Given the description of an element on the screen output the (x, y) to click on. 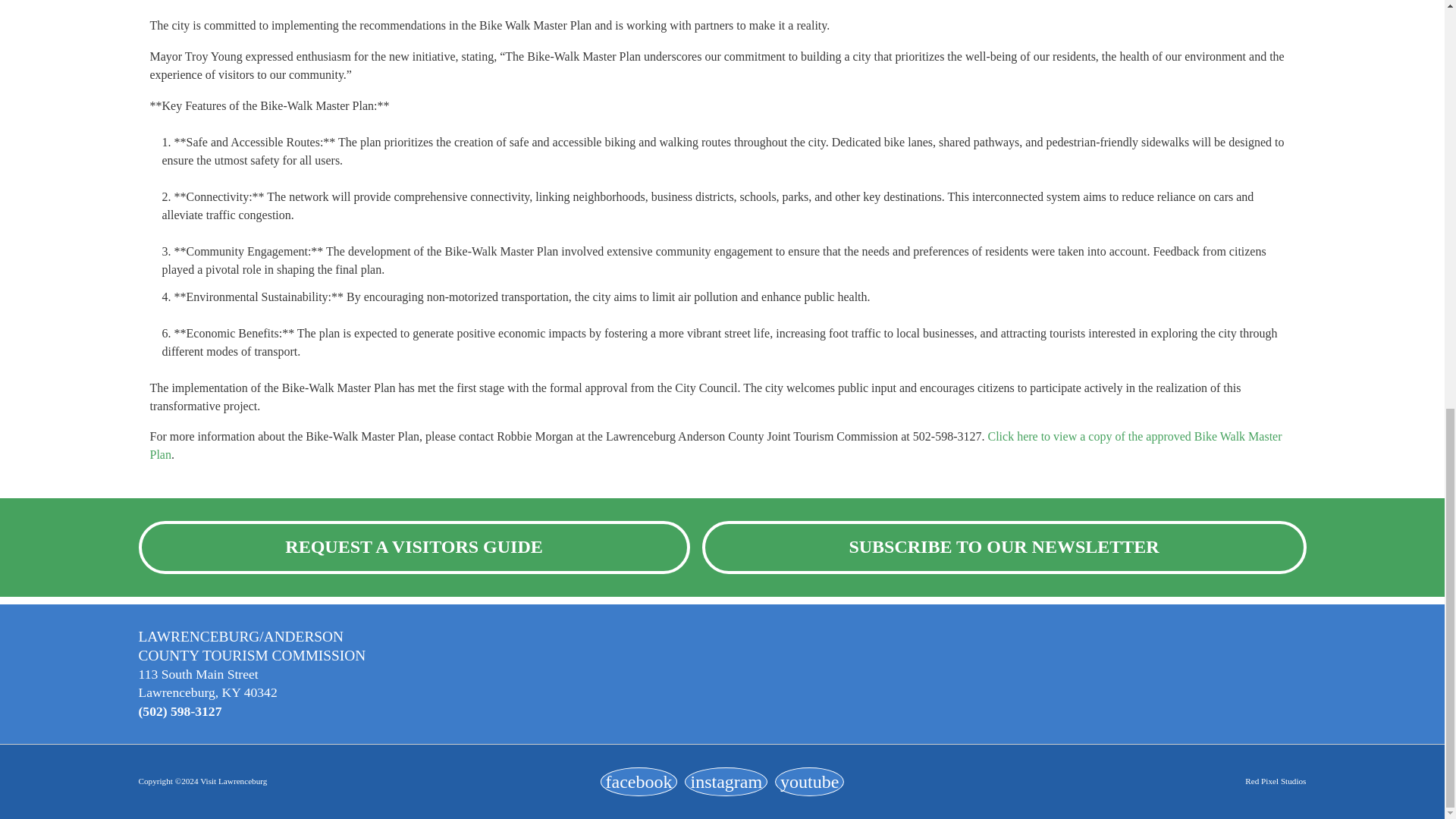
Opens in a new tab or window (638, 781)
Opens in a new tab or window (725, 781)
Opens in a new tab or window (809, 781)
